Given the description of an element on the screen output the (x, y) to click on. 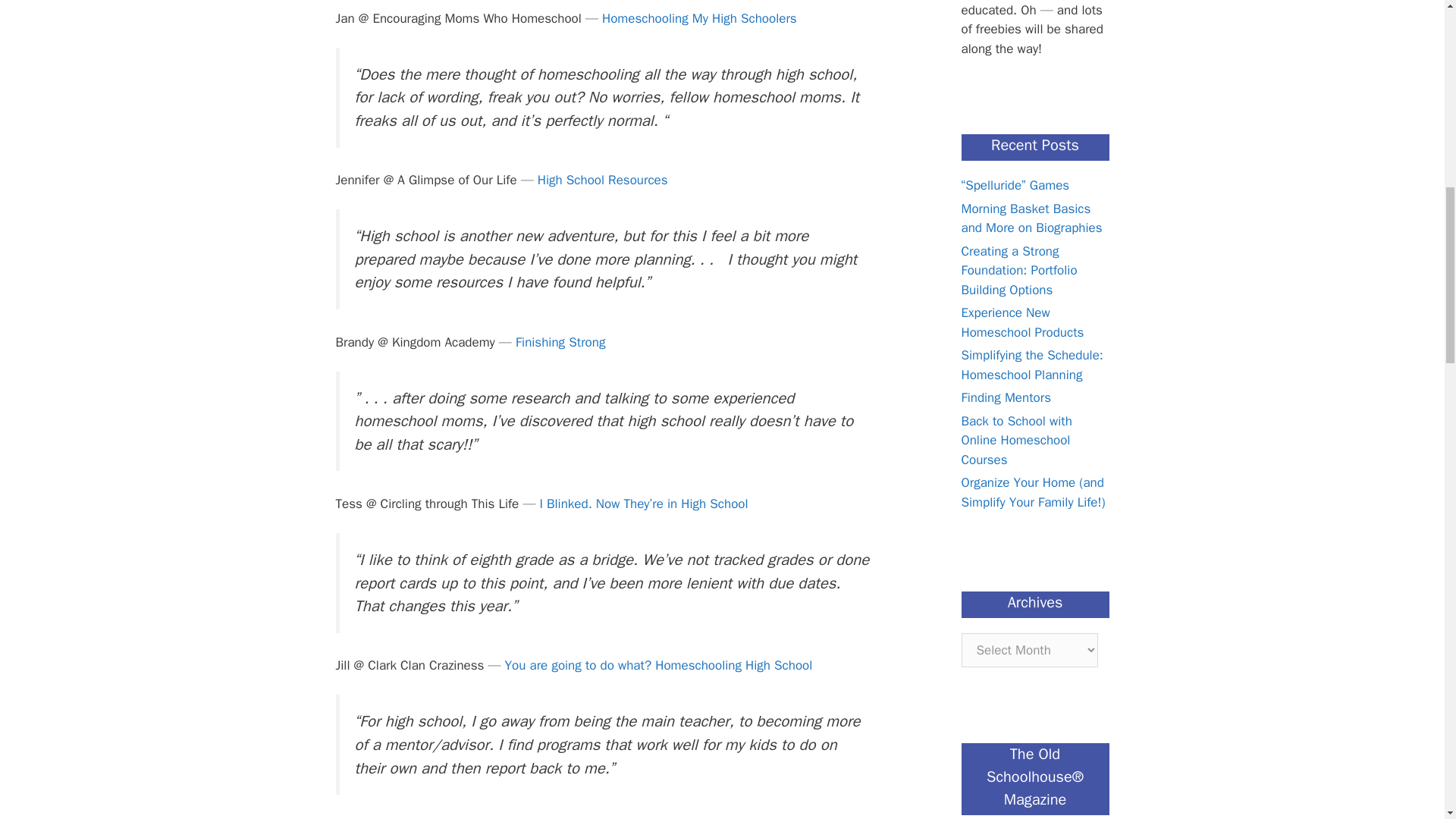
Finishing Strong (560, 342)
Scroll back to top (1406, 720)
High School Resources (602, 179)
You are going to do what? Homeschooling High School (658, 665)
Homeschooling My High Schoolers (699, 18)
